Given the description of an element on the screen output the (x, y) to click on. 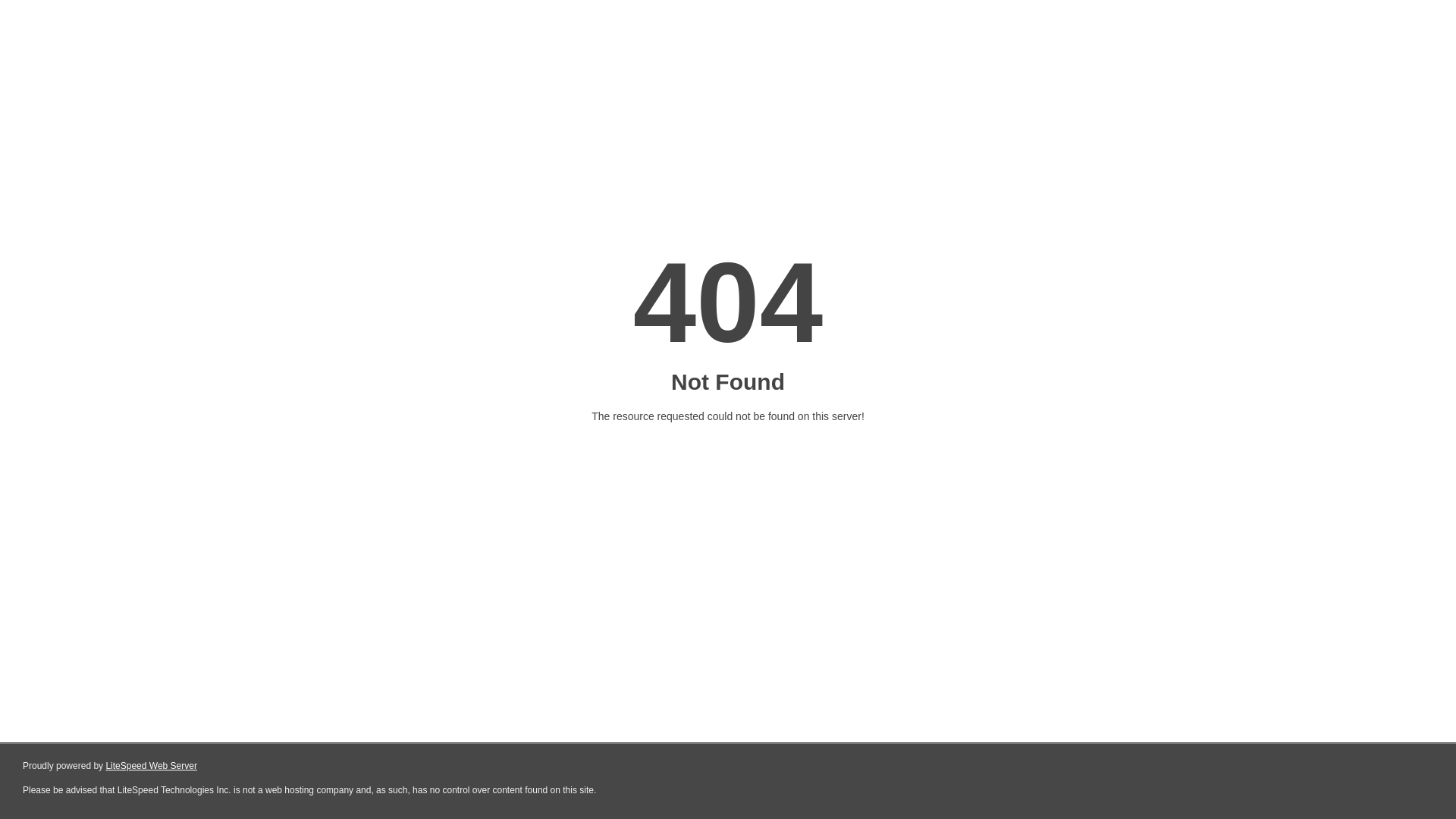
LiteSpeed Web Server Element type: text (151, 765)
